Given the description of an element on the screen output the (x, y) to click on. 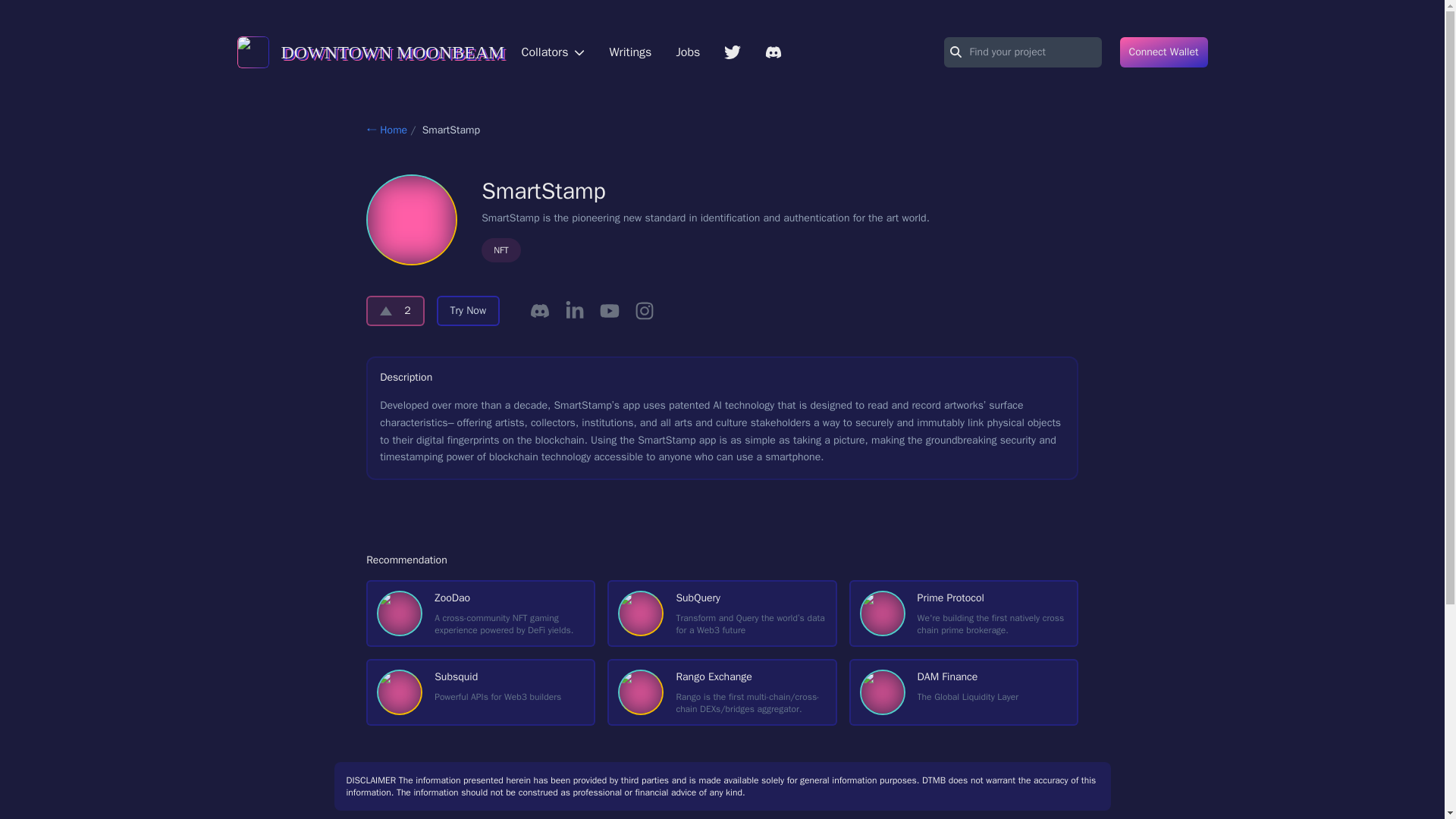
Prime Protocol (963, 613)
Try Now (468, 310)
ZooDao (480, 613)
DOWNTOWN MOONBEAM's Writings (629, 52)
2 (394, 310)
DOWNTOWN MOONBEAM's Twitter (732, 52)
DOWNTOWN MOONBEAM's Discord (773, 52)
Connect Wallet (963, 692)
